Given the description of an element on the screen output the (x, y) to click on. 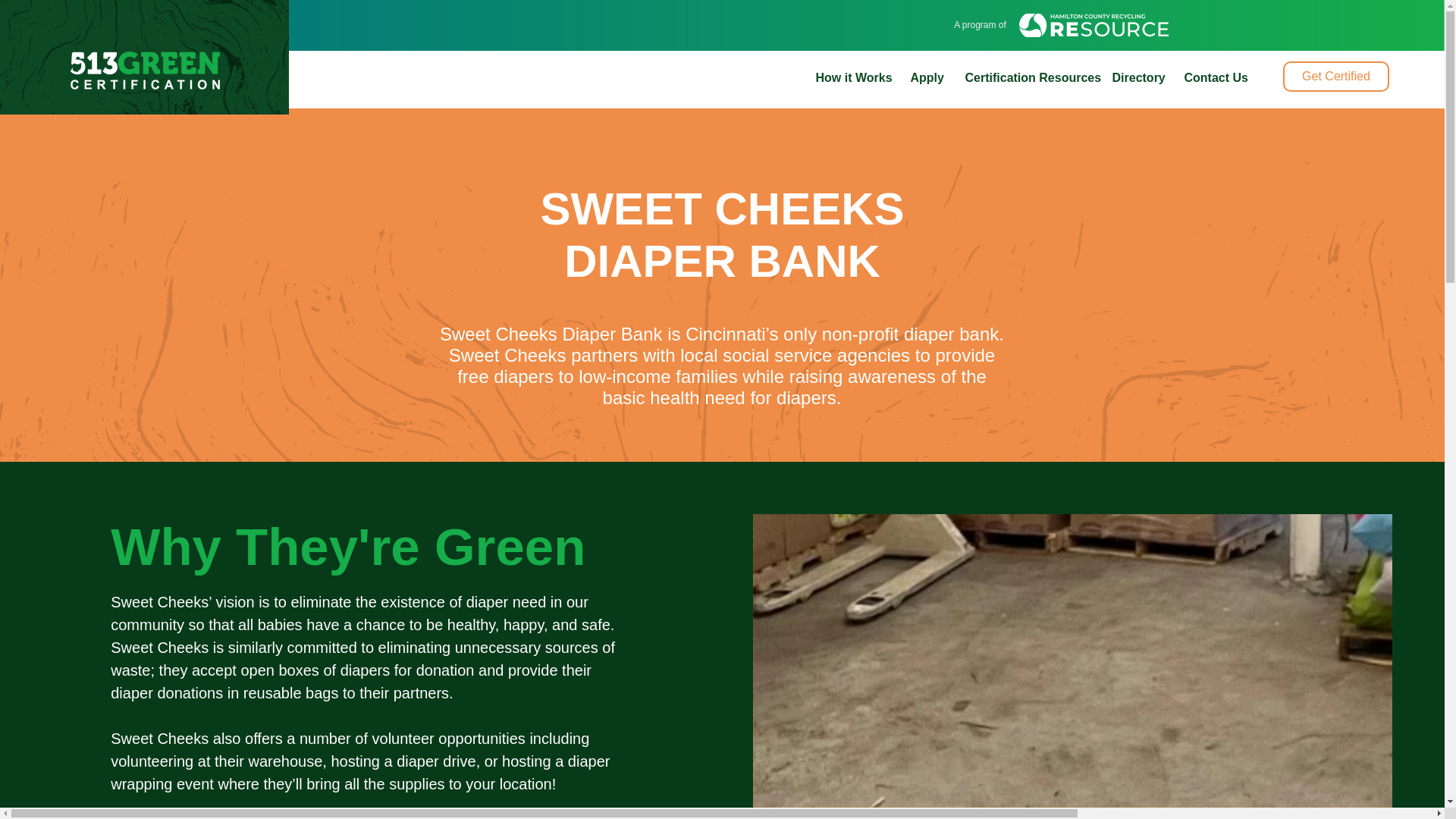
Get Certified (1335, 76)
Apply (926, 77)
Certification Resources (1026, 77)
Contact Us (1212, 77)
How it Works (850, 77)
Directory (1136, 77)
